Given the description of an element on the screen output the (x, y) to click on. 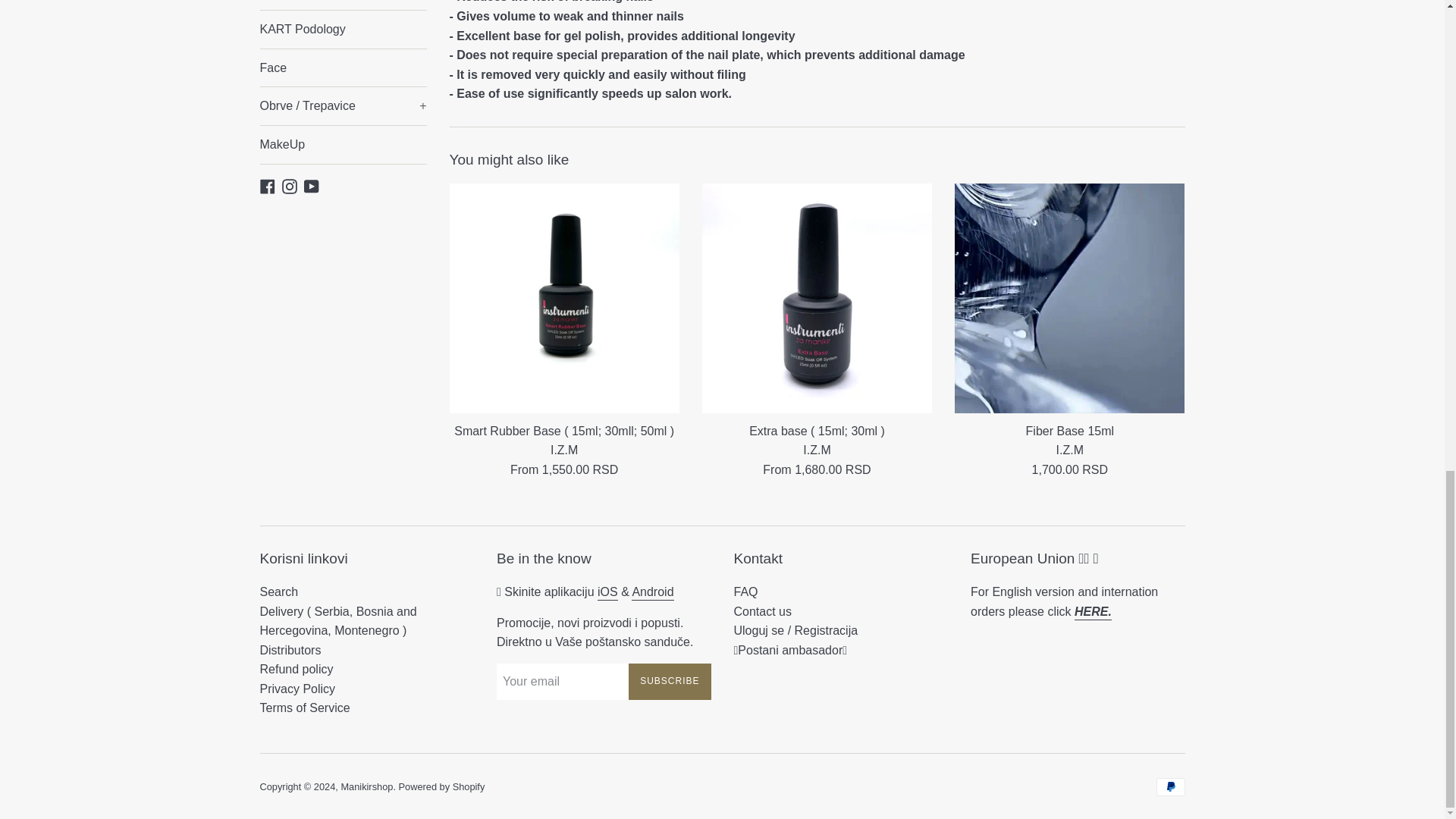
Manikirshop on Facebook (267, 185)
PayPal (1170, 787)
Fiber Base 15ml (1070, 298)
Manikirshop on Instagram (289, 185)
Manikirshop on YouTube (311, 185)
